Given the description of an element on the screen output the (x, y) to click on. 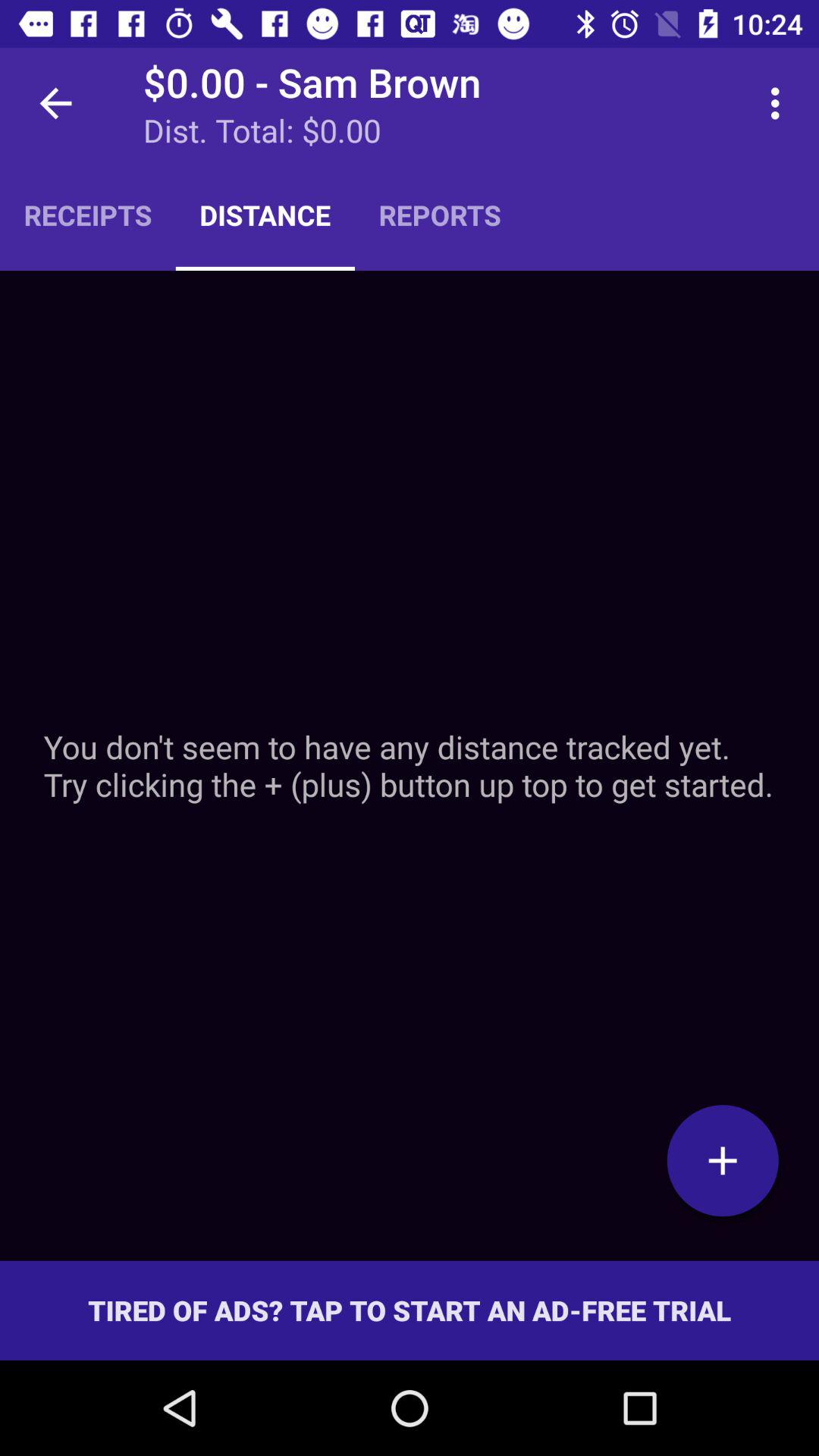
tap item next to the distance (87, 214)
